Given the description of an element on the screen output the (x, y) to click on. 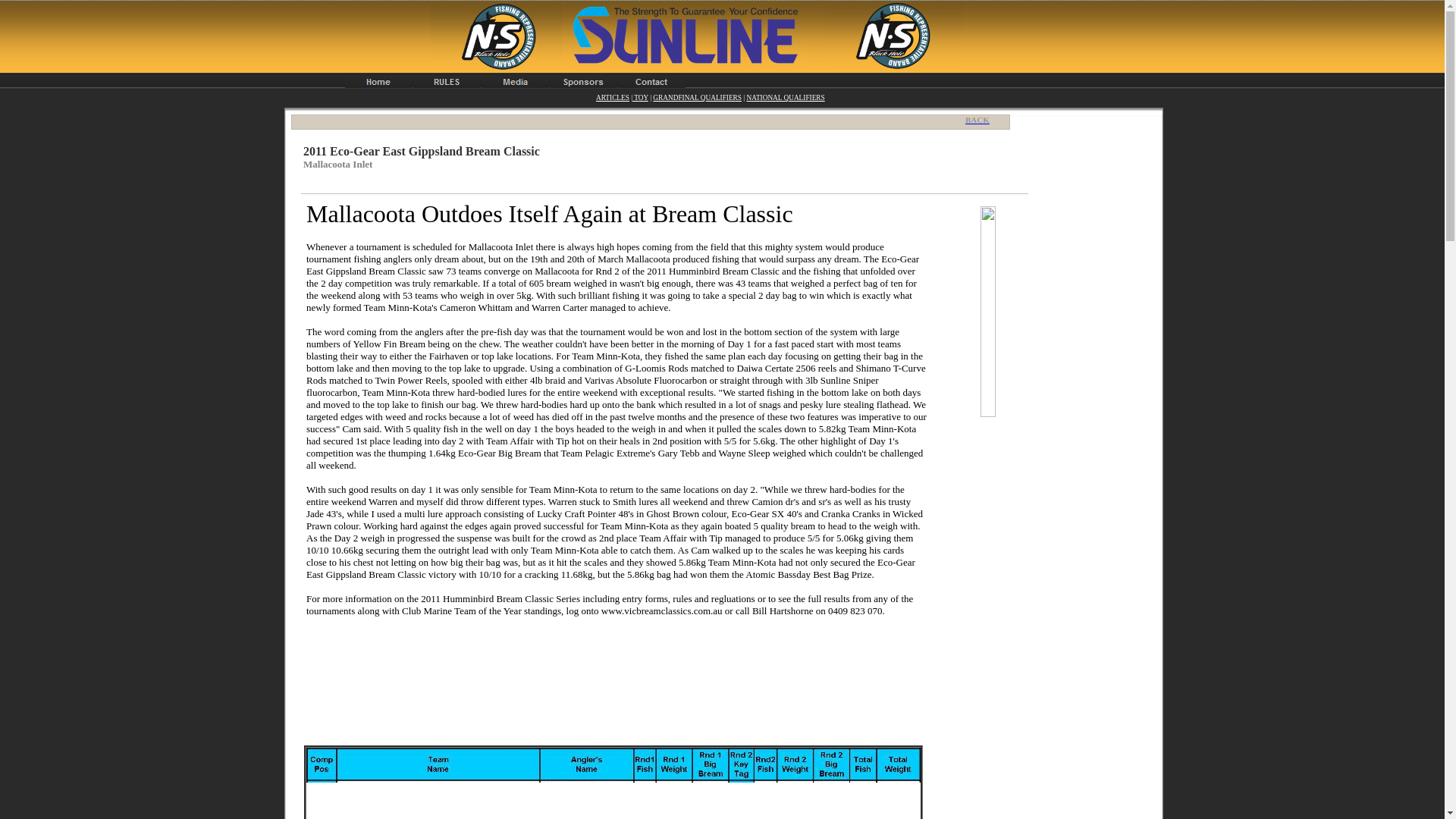
NATIONAL QUALIFIERS (784, 97)
ARTICLES (611, 97)
BACK (981, 119)
TOY (639, 97)
GRANDFINAL QUALIFIERS (696, 97)
